Given the description of an element on the screen output the (x, y) to click on. 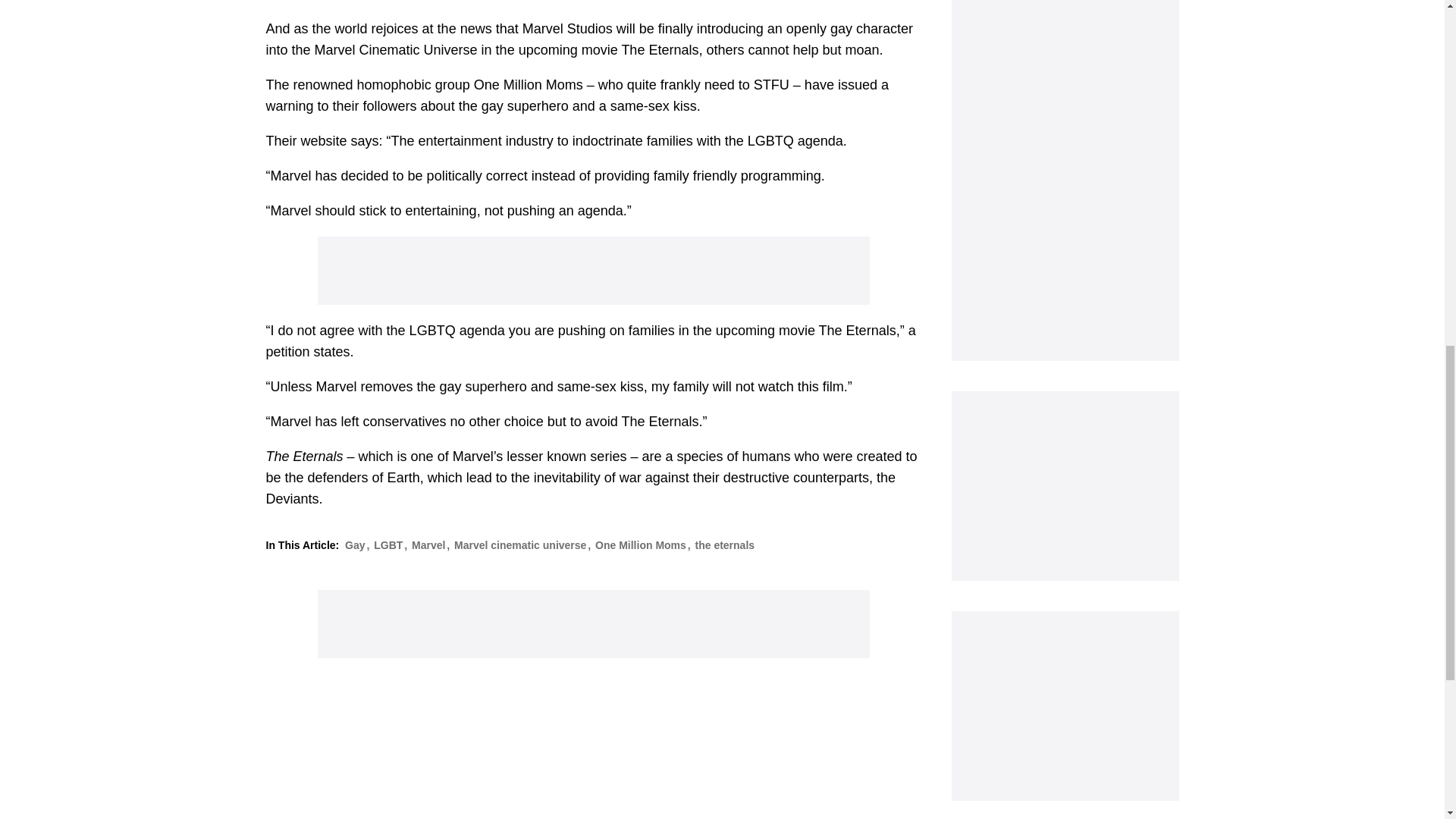
3rd party ad content (1063, 180)
